Given the description of an element on the screen output the (x, y) to click on. 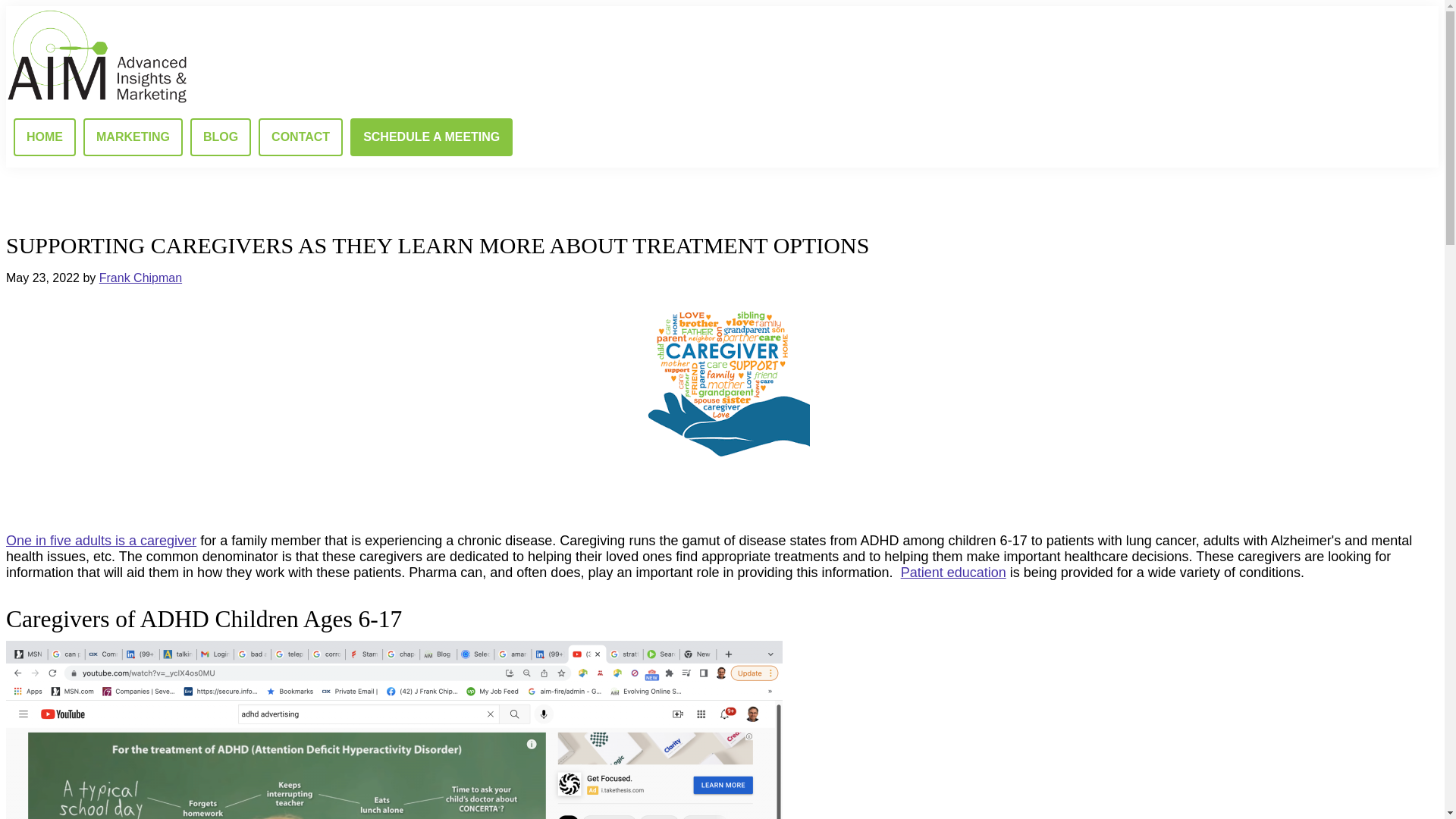
CONTACT (300, 136)
Frank Chipman (140, 277)
SCHEDULE A MEETING (431, 136)
MARKETING (132, 136)
Patient education (953, 572)
BLOG (220, 136)
HOME (44, 136)
One in five adults is a caregiver (100, 540)
